Given the description of an element on the screen output the (x, y) to click on. 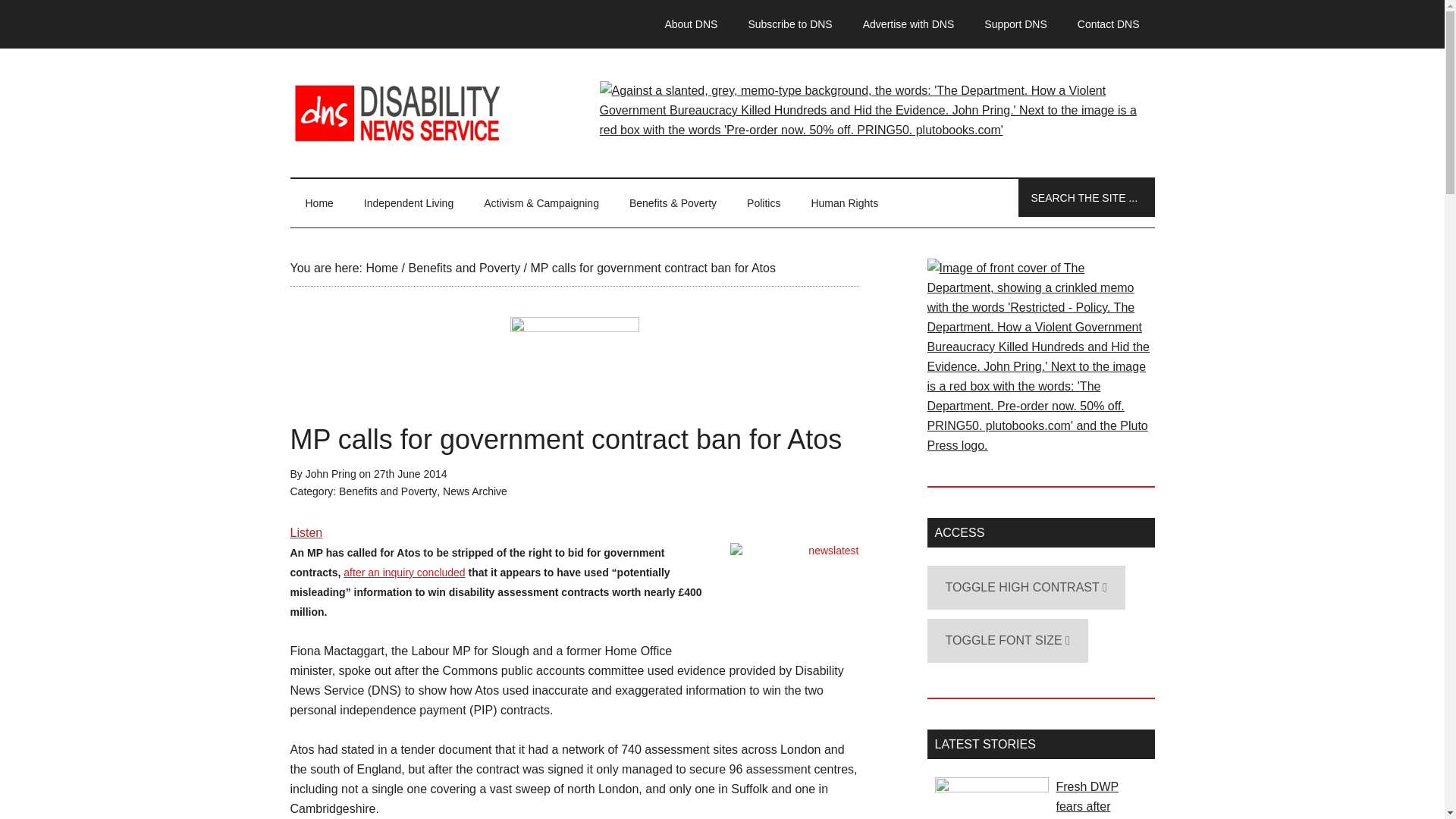
Support DNS (1015, 24)
Subscribe to DNS (789, 24)
Benefits and Poverty (387, 491)
Politics (763, 203)
Independent Living (408, 203)
News Archive (474, 491)
Disability News Service (721, 112)
after an inquiry concluded (403, 571)
Benefits and Poverty (463, 267)
Advertise with DNS (908, 24)
Home (381, 267)
Listen (305, 532)
